Given the description of an element on the screen output the (x, y) to click on. 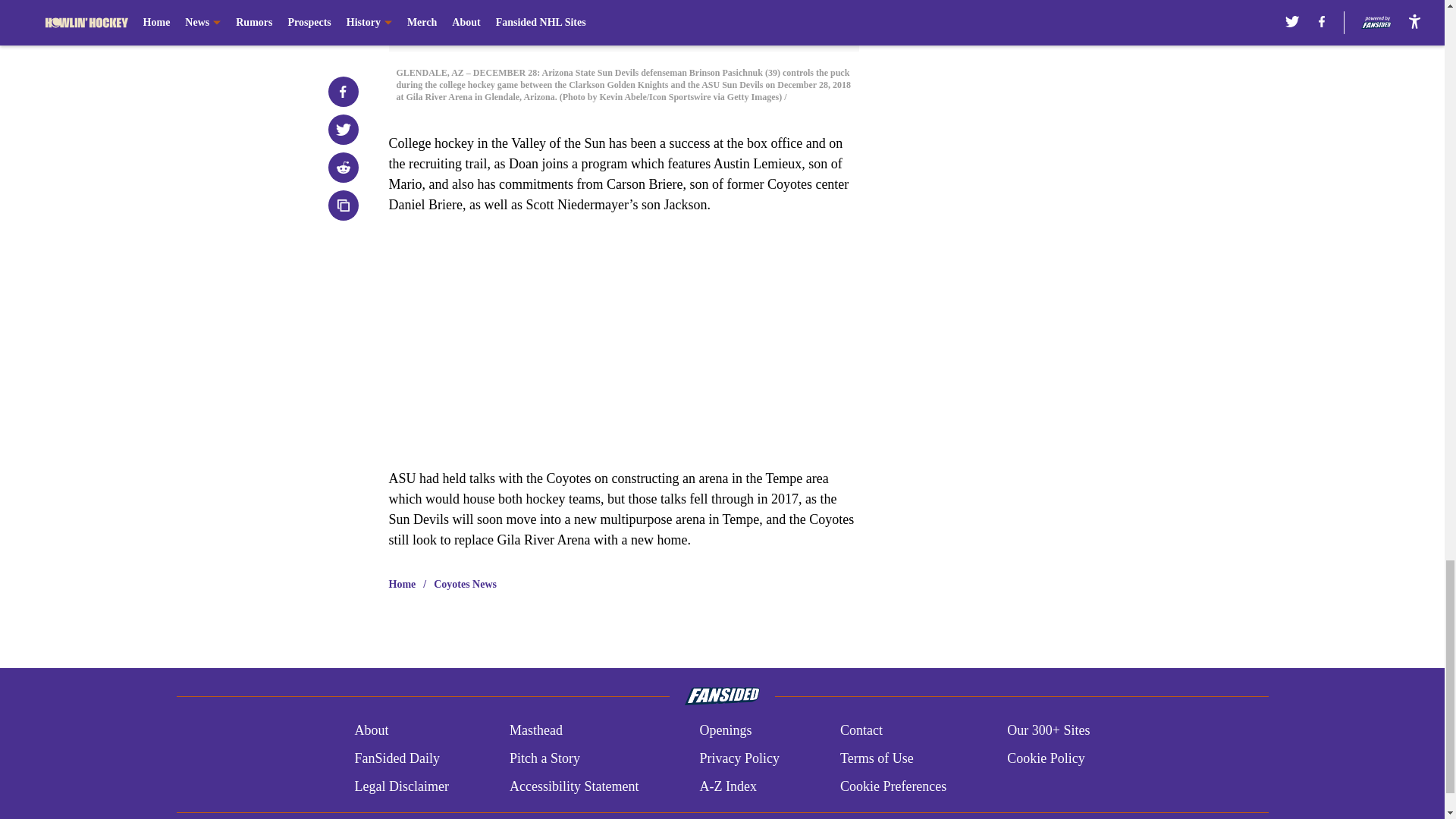
Cookie Preferences (893, 786)
Accessibility Statement (574, 786)
Legal Disclaimer (400, 786)
Home (401, 584)
FanSided Daily (396, 758)
Cookie Policy (1045, 758)
Openings (724, 730)
Privacy Policy (738, 758)
Terms of Use (877, 758)
Pitch a Story (544, 758)
A-Z Index (726, 786)
Masthead (535, 730)
Coyotes News (464, 584)
Contact (861, 730)
About (370, 730)
